Given the description of an element on the screen output the (x, y) to click on. 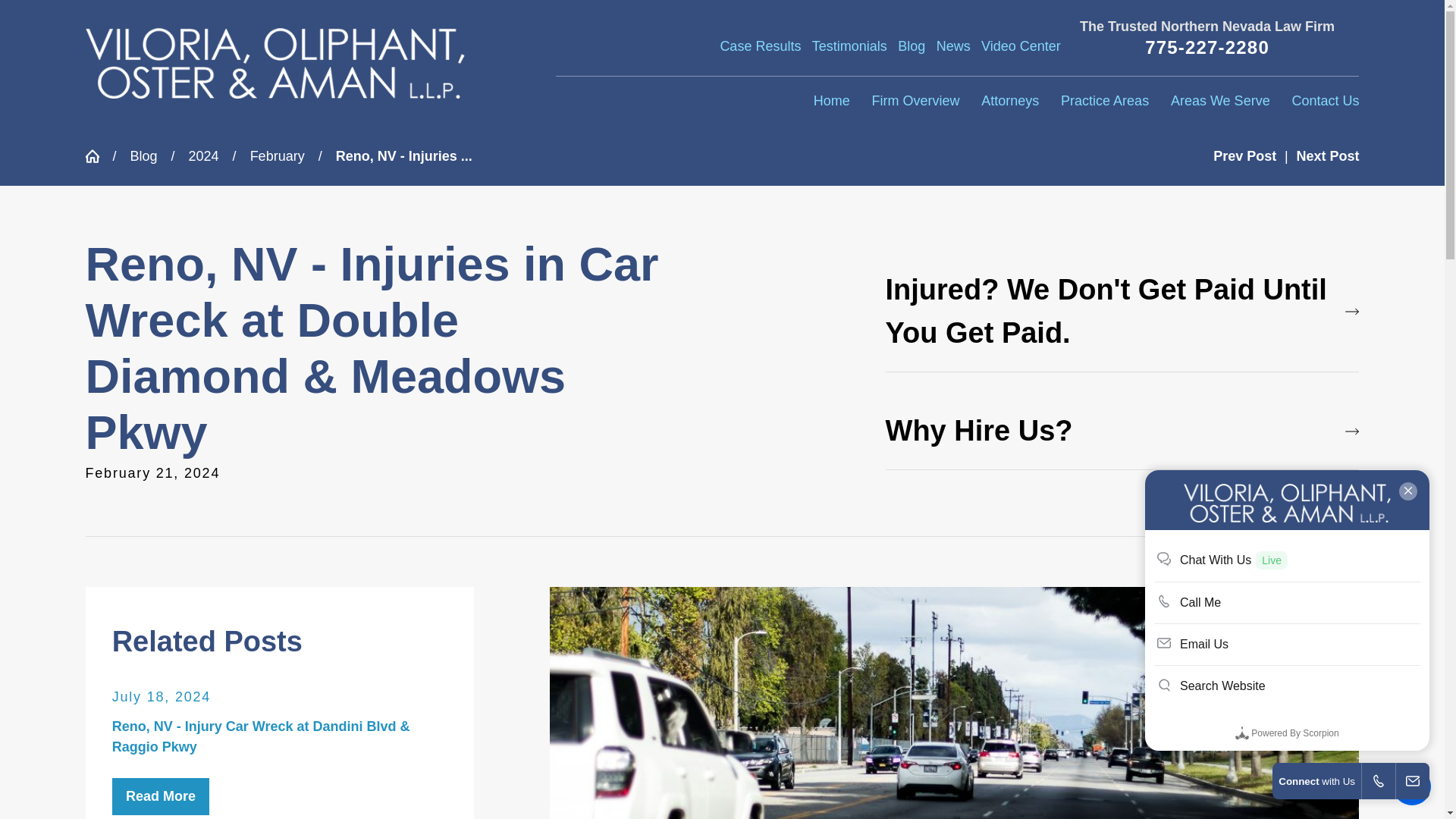
Firm Overview (914, 101)
Video Center (1021, 46)
Practice Areas (1104, 101)
775-227-2280 (1207, 47)
Testimonials (849, 46)
News (953, 46)
Case Results (759, 46)
Blog (911, 46)
Go Home (98, 155)
Attorneys (1010, 101)
Open the accessibility options menu (1412, 786)
